Given the description of an element on the screen output the (x, y) to click on. 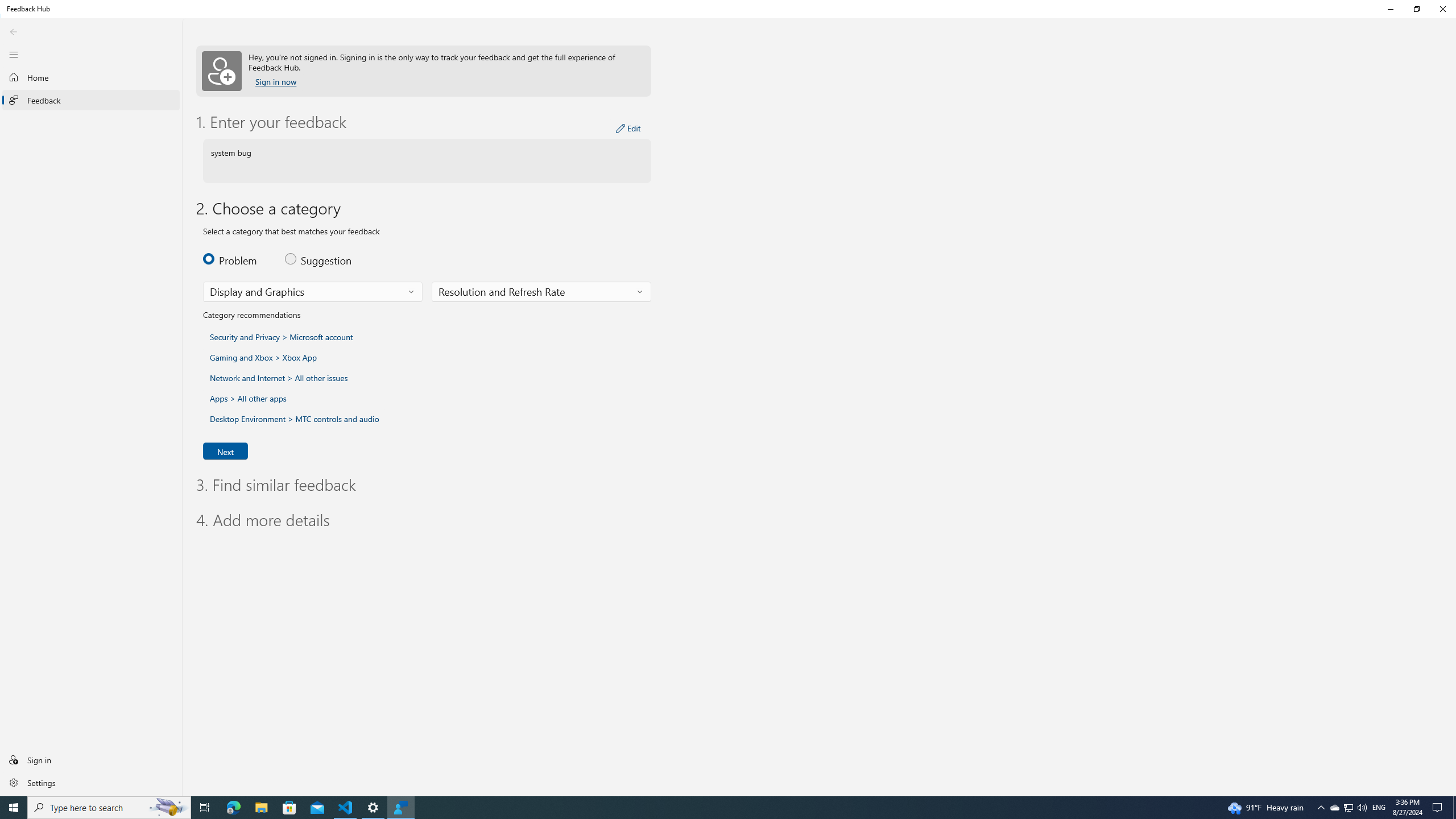
Show desktop (1454, 807)
Restore Feedback Hub (1416, 9)
Microsoft Store (289, 807)
Feedback type, Suggestion (319, 258)
Minimize Feedback Hub (1390, 9)
Edit your feedback details (627, 128)
Next (224, 450)
Feedback category (312, 291)
Home (90, 77)
Q2790: 100% (1361, 807)
Close Navigation (13, 54)
Feedback (90, 100)
Type here to search (108, 807)
